Given the description of an element on the screen output the (x, y) to click on. 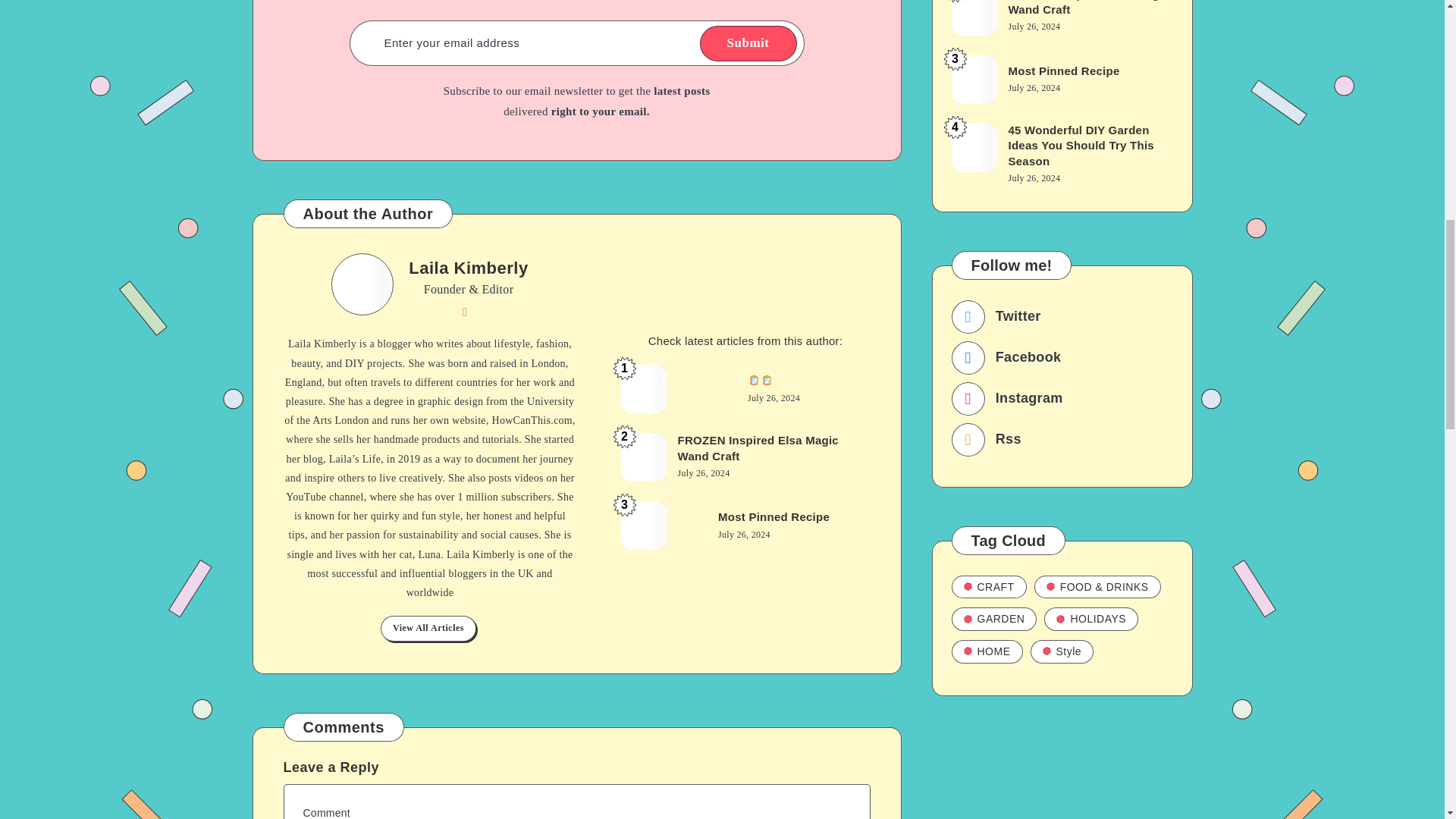
Submit (748, 43)
Laila Kimberly (468, 269)
